Given the description of an element on the screen output the (x, y) to click on. 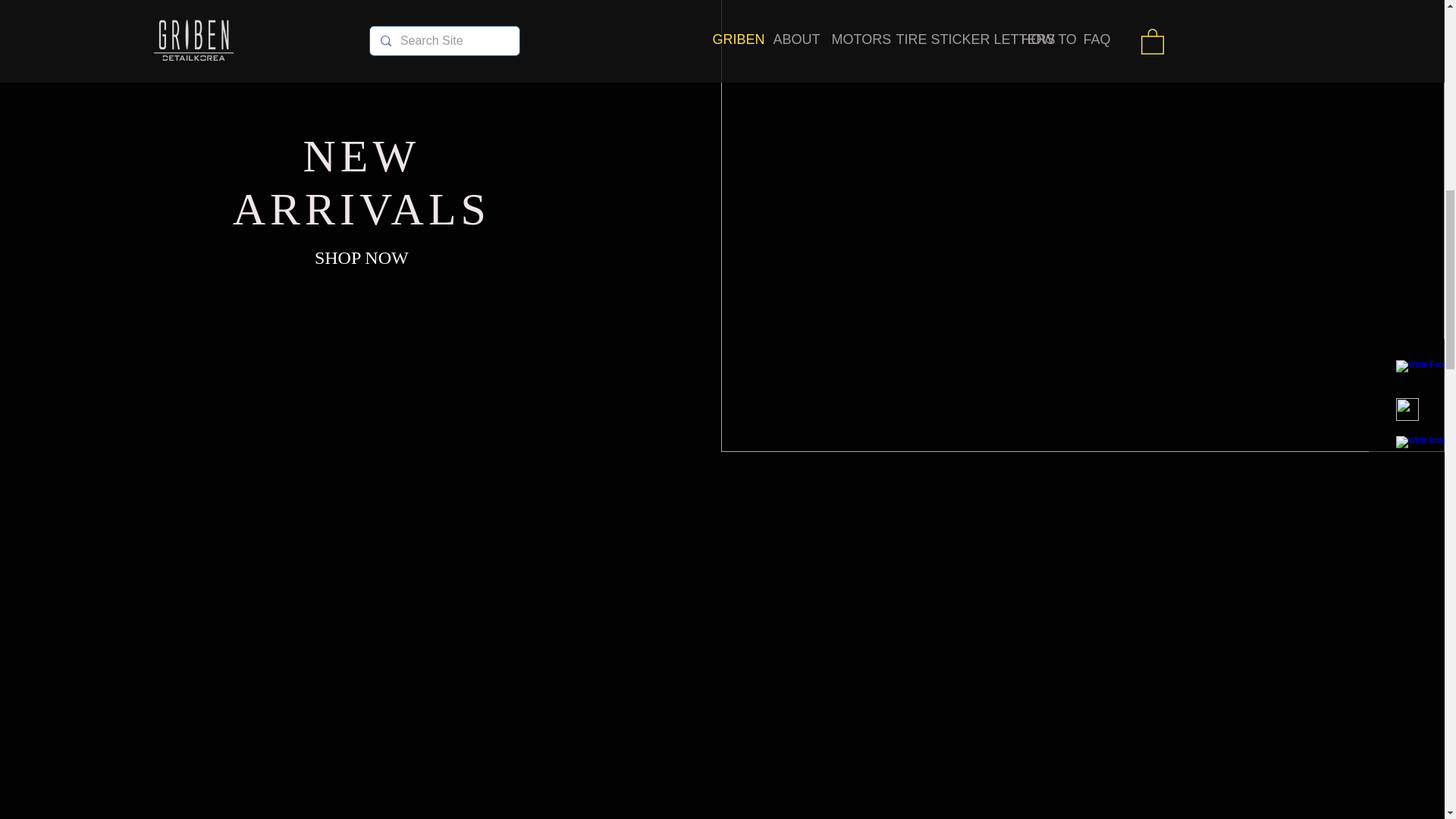
SHOP NOW (361, 259)
